Given the description of an element on the screen output the (x, y) to click on. 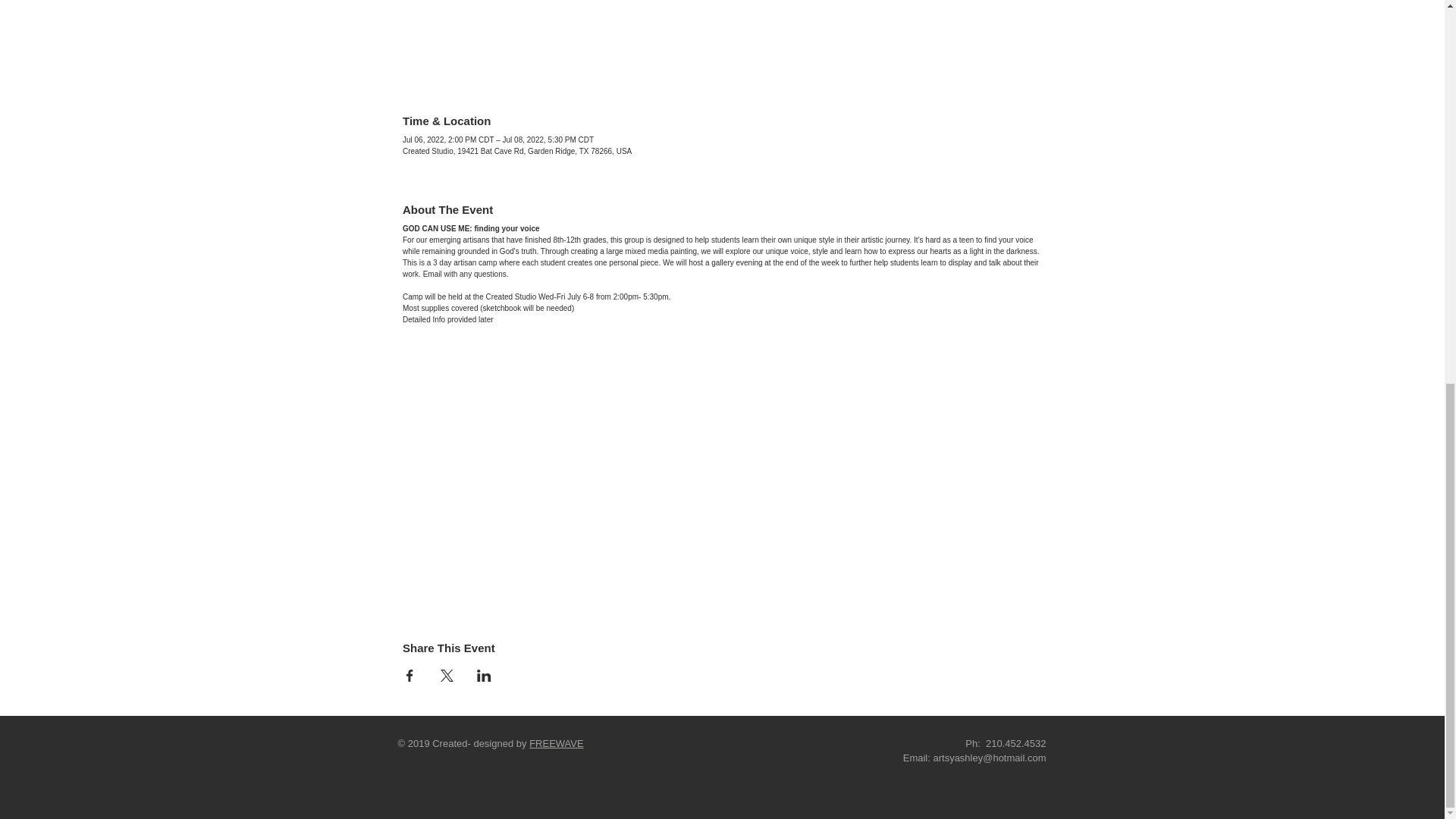
FREEWAVE (556, 743)
